Given the description of an element on the screen output the (x, y) to click on. 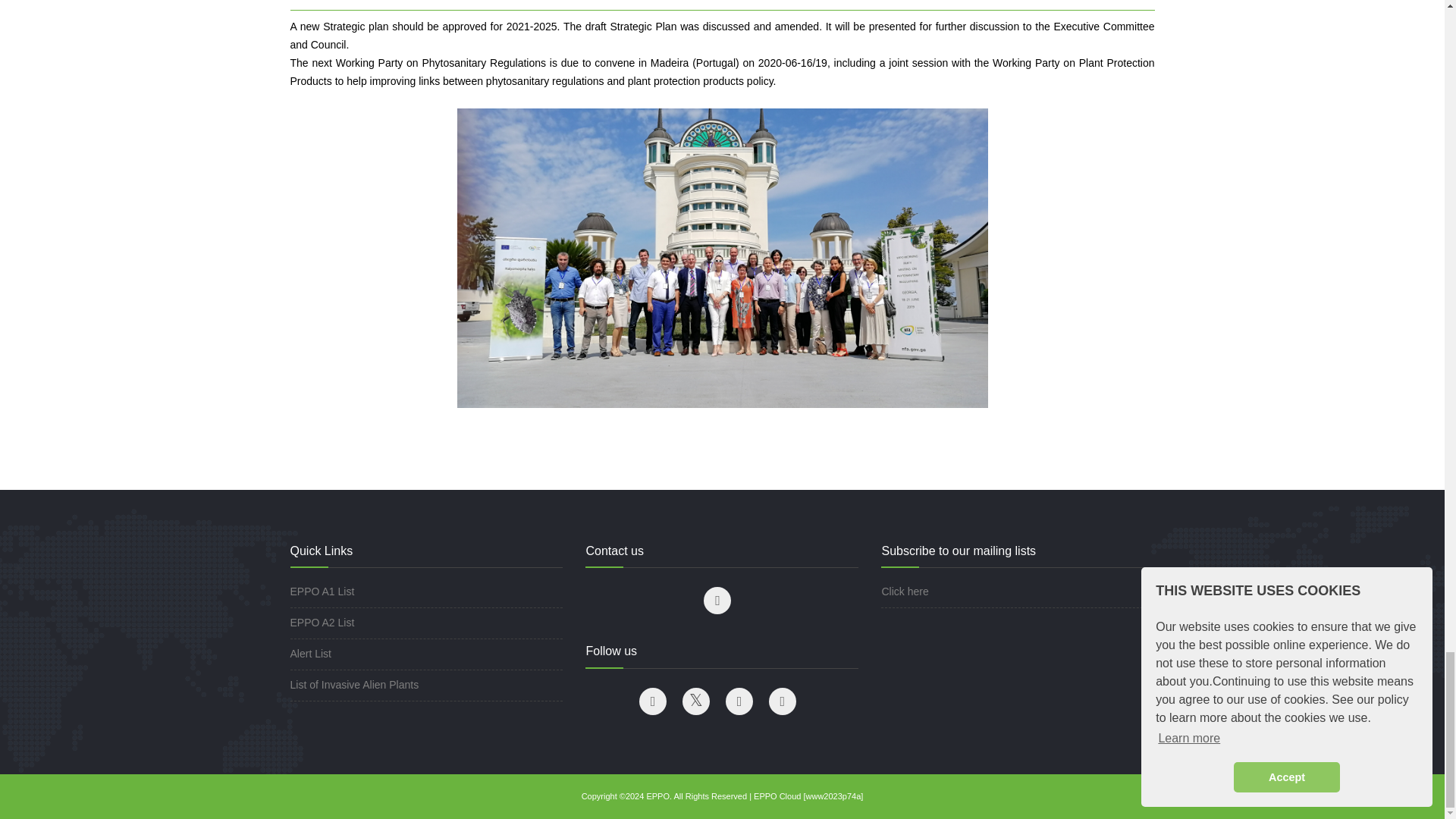
follow us on Facebook (652, 700)
follow us on Linkedin (738, 700)
EPPO on YouTube (782, 700)
follow us on Twitter (696, 700)
Contact us (716, 600)
